Given the description of an element on the screen output the (x, y) to click on. 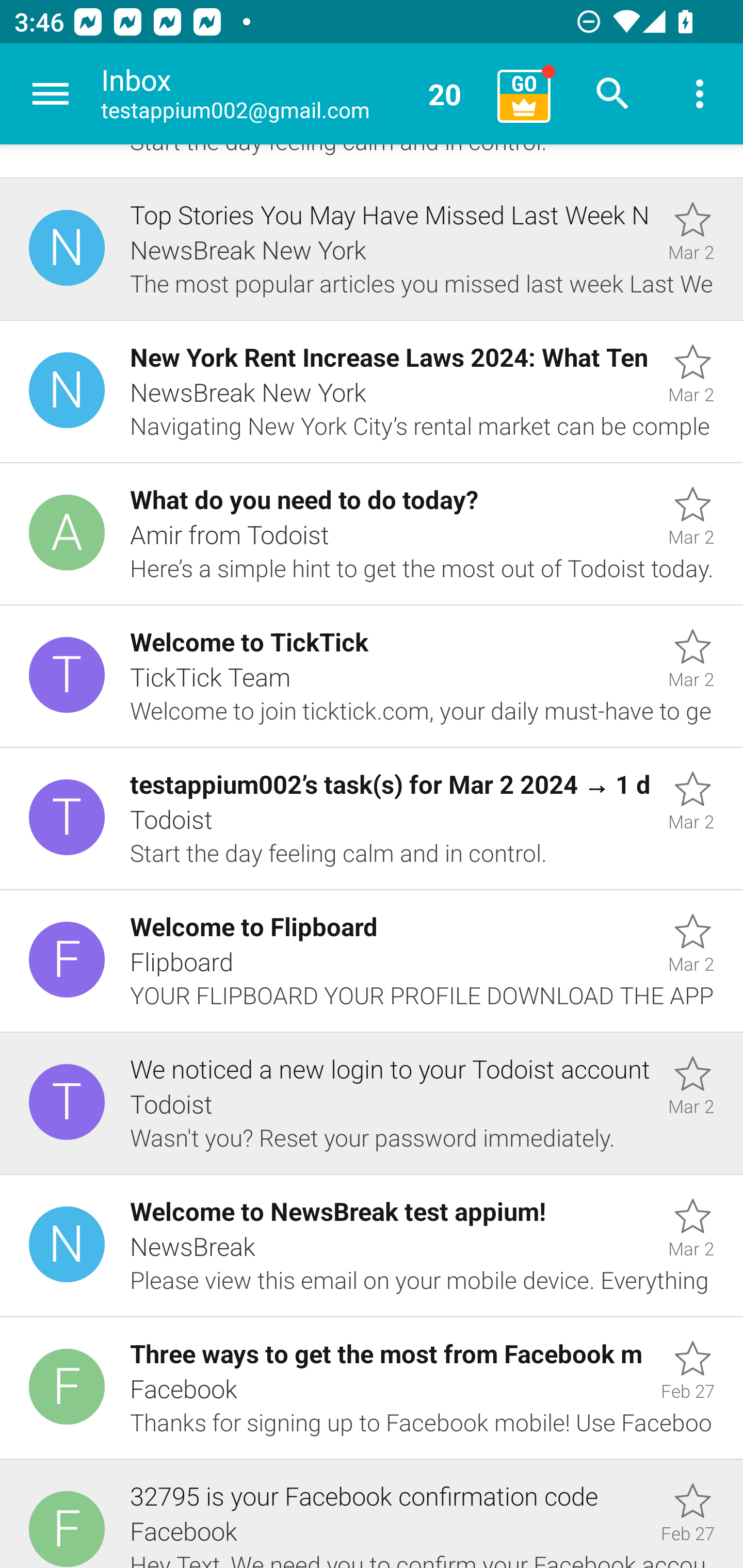
Navigate up (50, 93)
Inbox testappium002@gmail.com 20 (291, 93)
Search (612, 93)
More options (699, 93)
